Given the description of an element on the screen output the (x, y) to click on. 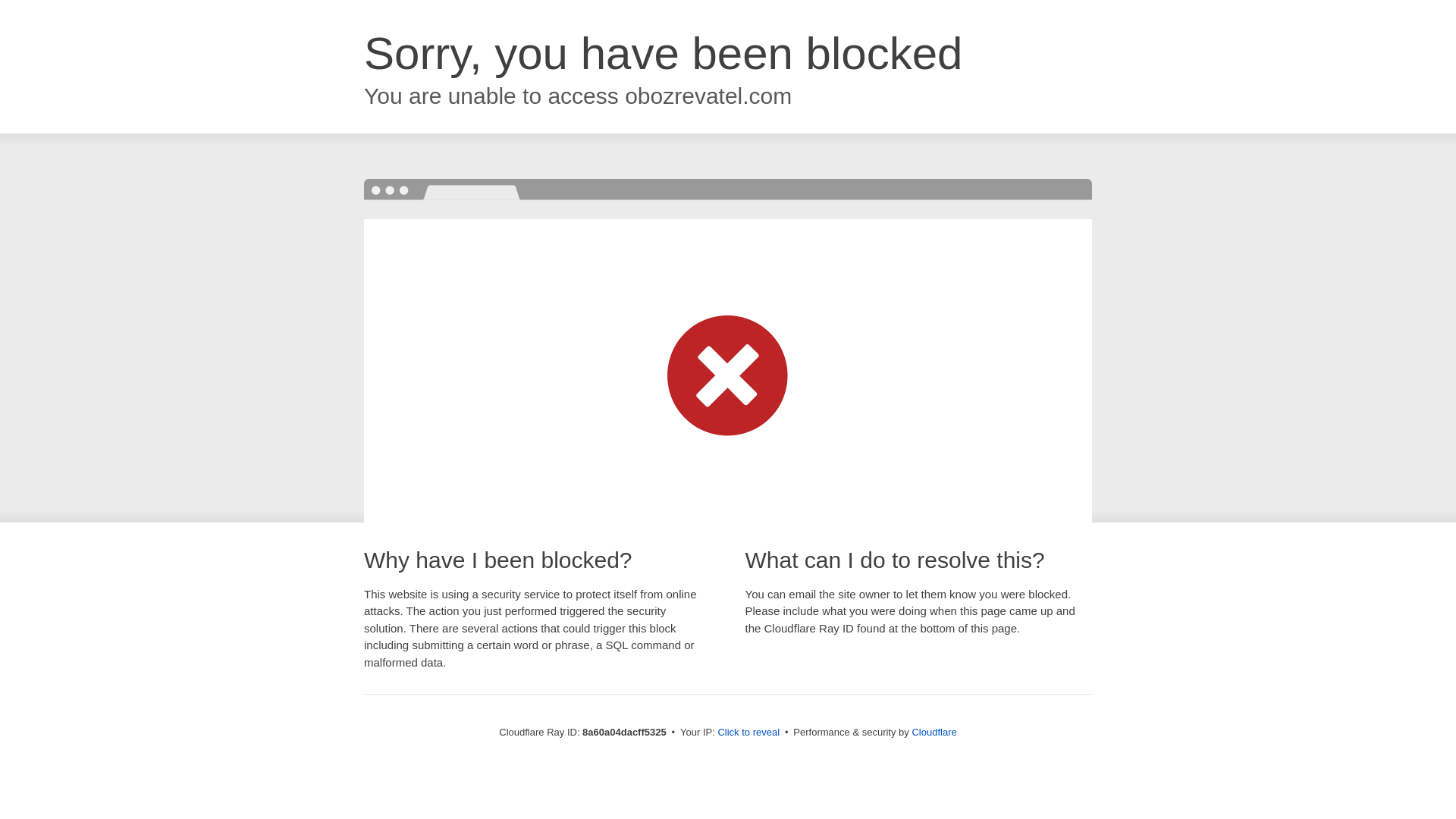
Click to reveal (747, 732)
Cloudflare (933, 731)
